Given the description of an element on the screen output the (x, y) to click on. 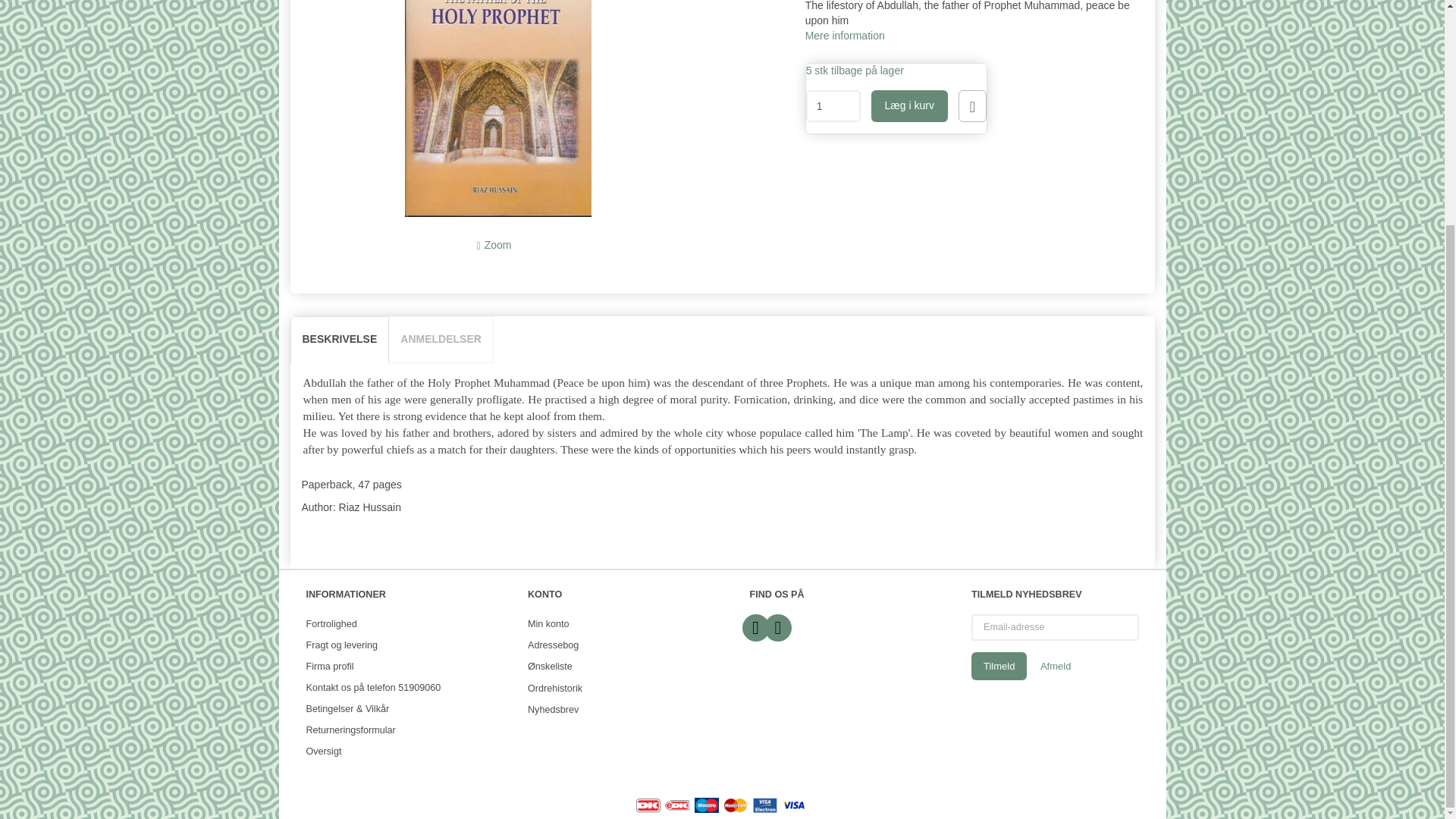
1 (833, 106)
Abdullah - Father of the Prophet (497, 108)
